Given the description of an element on the screen output the (x, y) to click on. 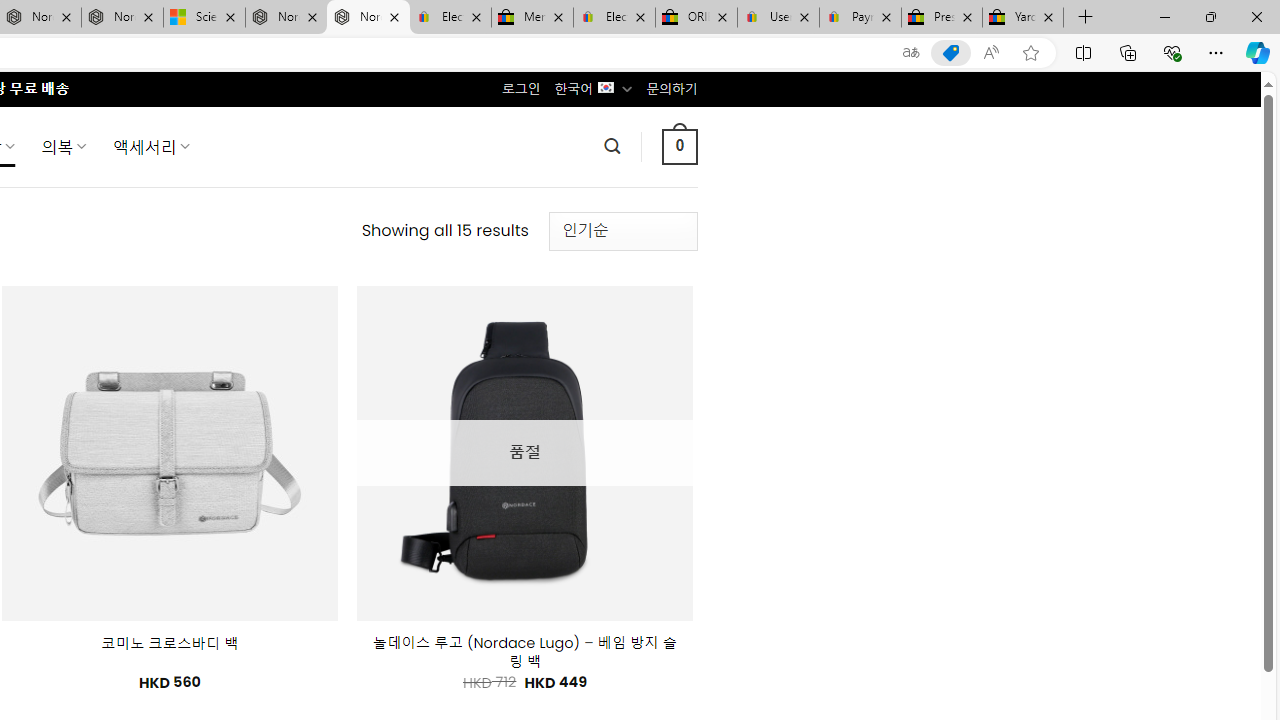
Show translate options (910, 53)
Nordace - Summer Adventures 2024 (285, 17)
  0   (679, 146)
User Privacy Notice | eBay (778, 17)
